Given the description of an element on the screen output the (x, y) to click on. 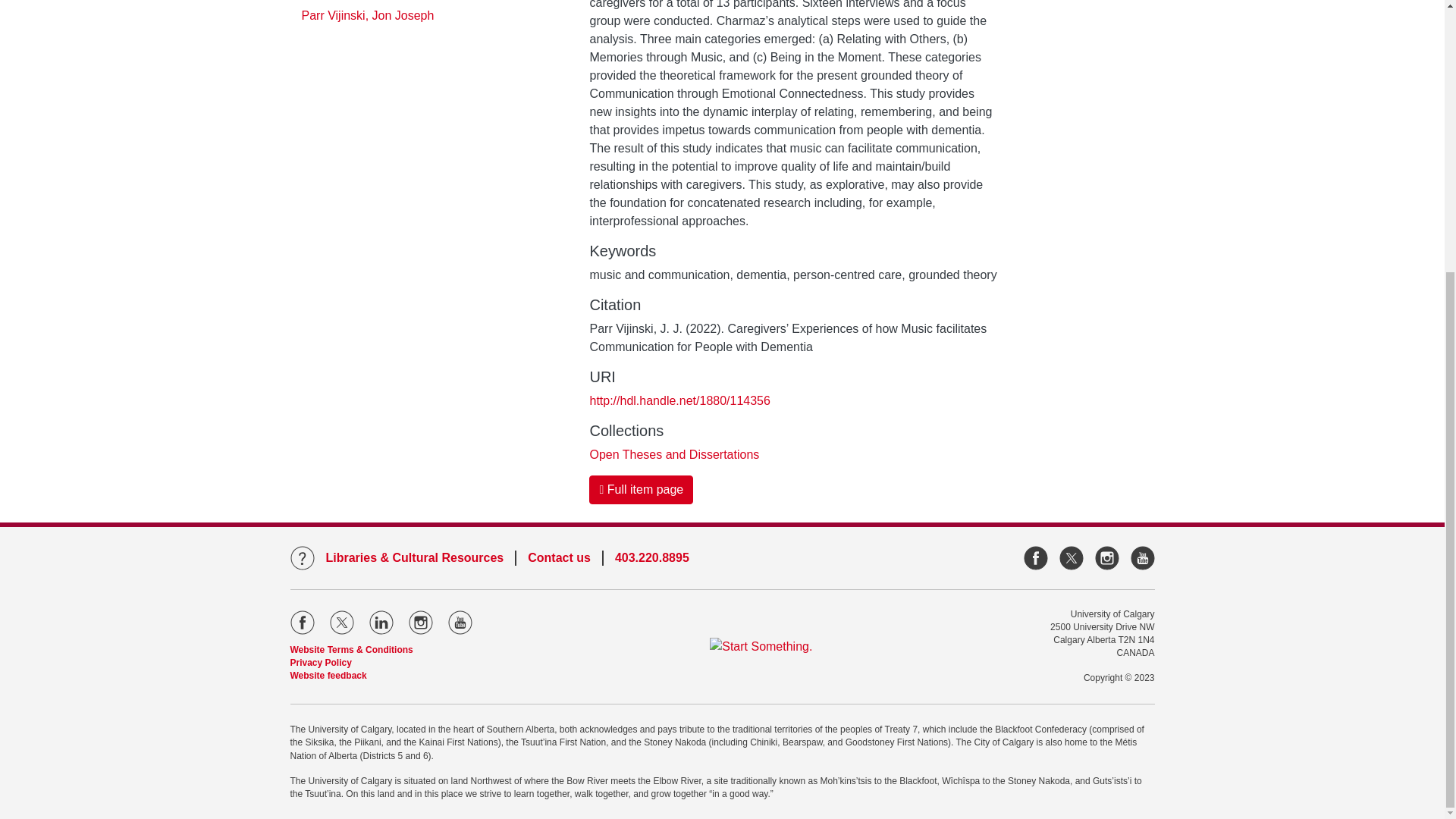
403.220.8895 (67, 185)
Open Theses and Dissertations (673, 34)
Full item page (641, 70)
Contact us (58, 166)
